Given the description of an element on the screen output the (x, y) to click on. 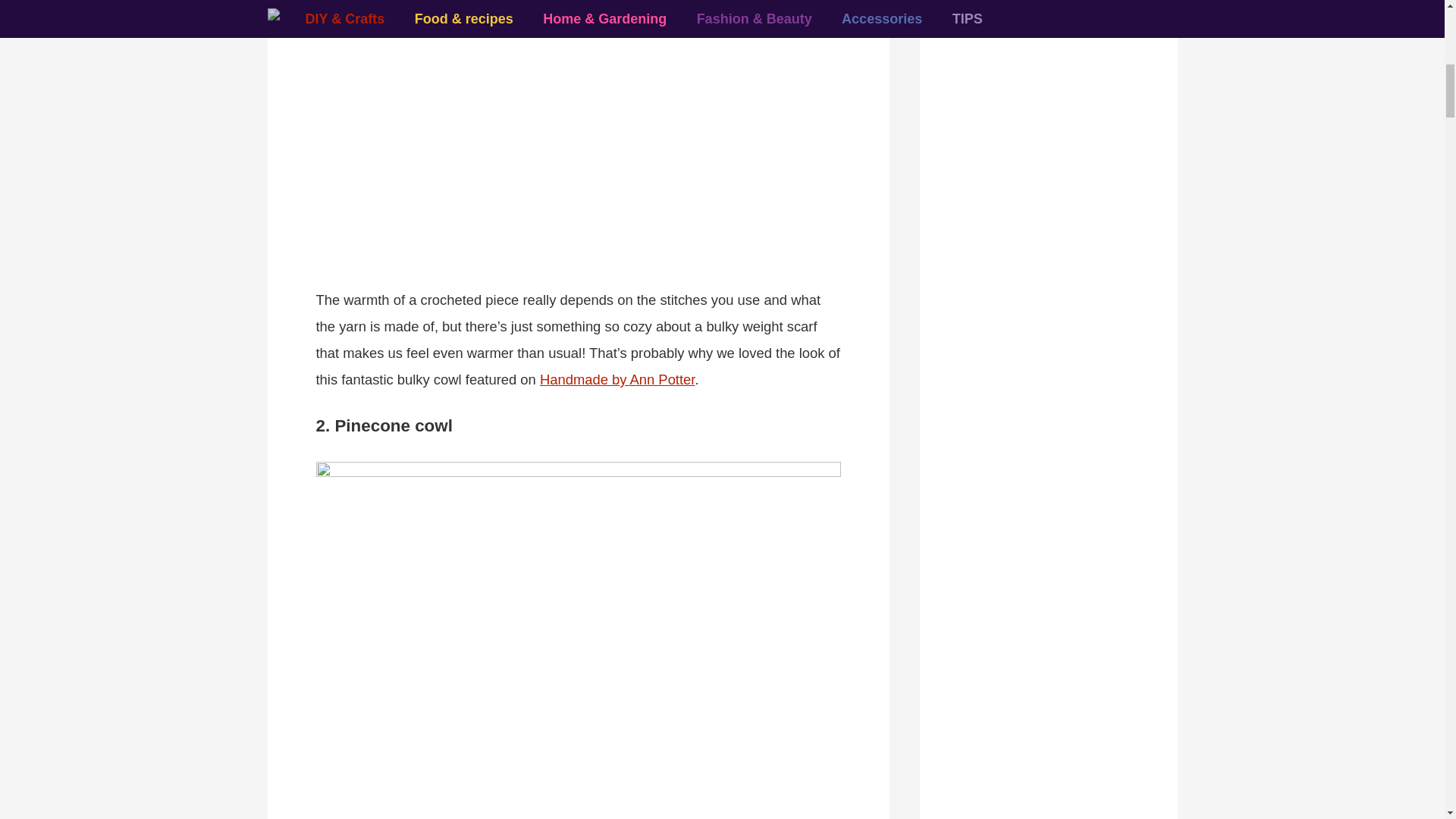
Handmade by Ann Potter (617, 379)
